Given the description of an element on the screen output the (x, y) to click on. 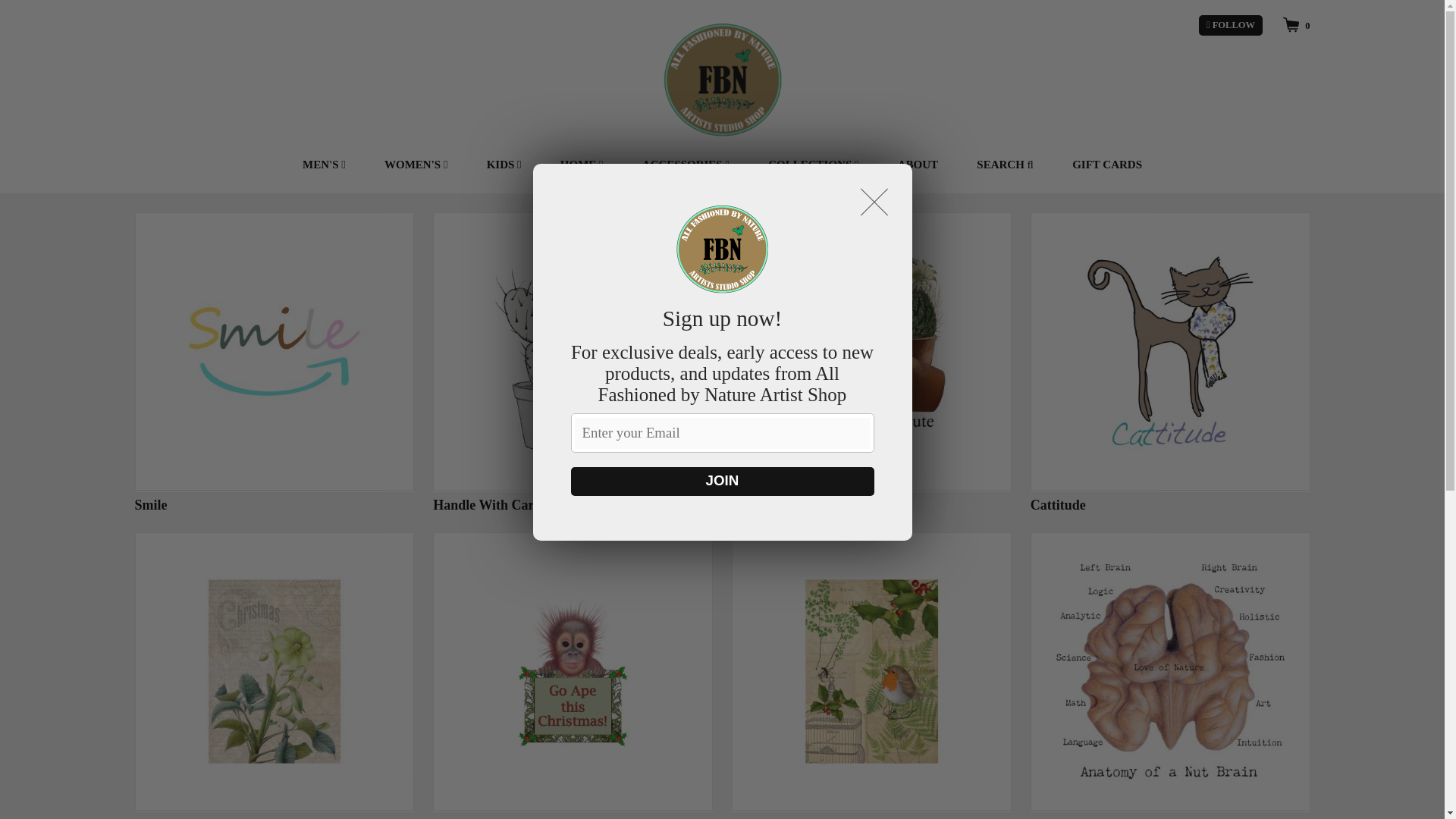
Shop Accessories (685, 164)
Shop Men's (323, 164)
Buy Prickly But Cute (871, 362)
Anatomy of a Nut Brain (1170, 675)
Buy Hellebore Christmas Card (274, 675)
0 (1295, 24)
Give the gift of unlimited choice (1107, 164)
Handle With Care (572, 362)
Shop Women's (415, 164)
FOLLOW (1230, 25)
Buy Cattitude (1170, 362)
Shop Collections (813, 164)
Buy Smile (274, 362)
Cattitude (1170, 362)
Search All Fashioned by Nature Artist Shop (1005, 164)
